Given the description of an element on the screen output the (x, y) to click on. 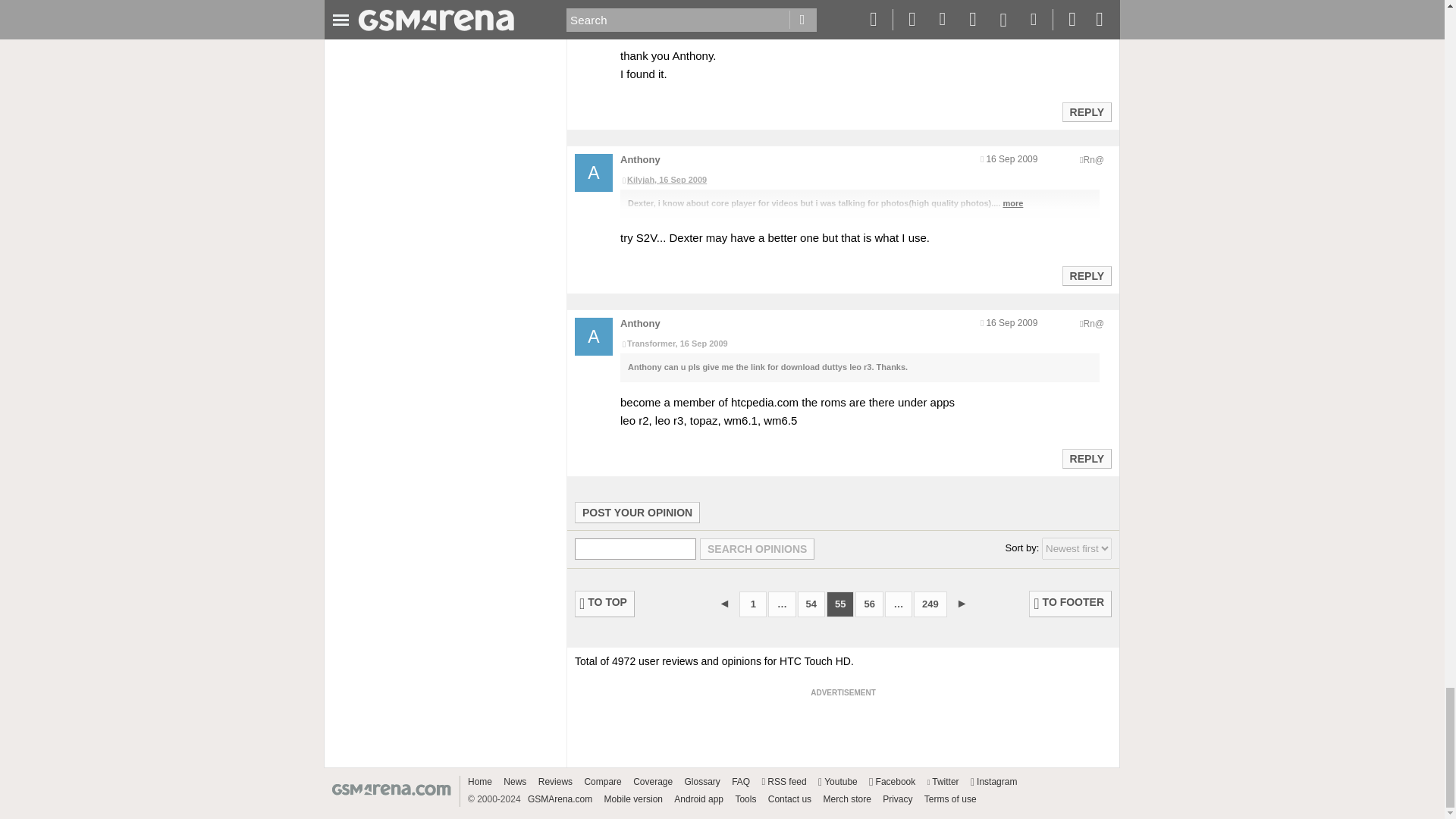
TO TOP (604, 603)
Search opinions (756, 548)
